Given the description of an element on the screen output the (x, y) to click on. 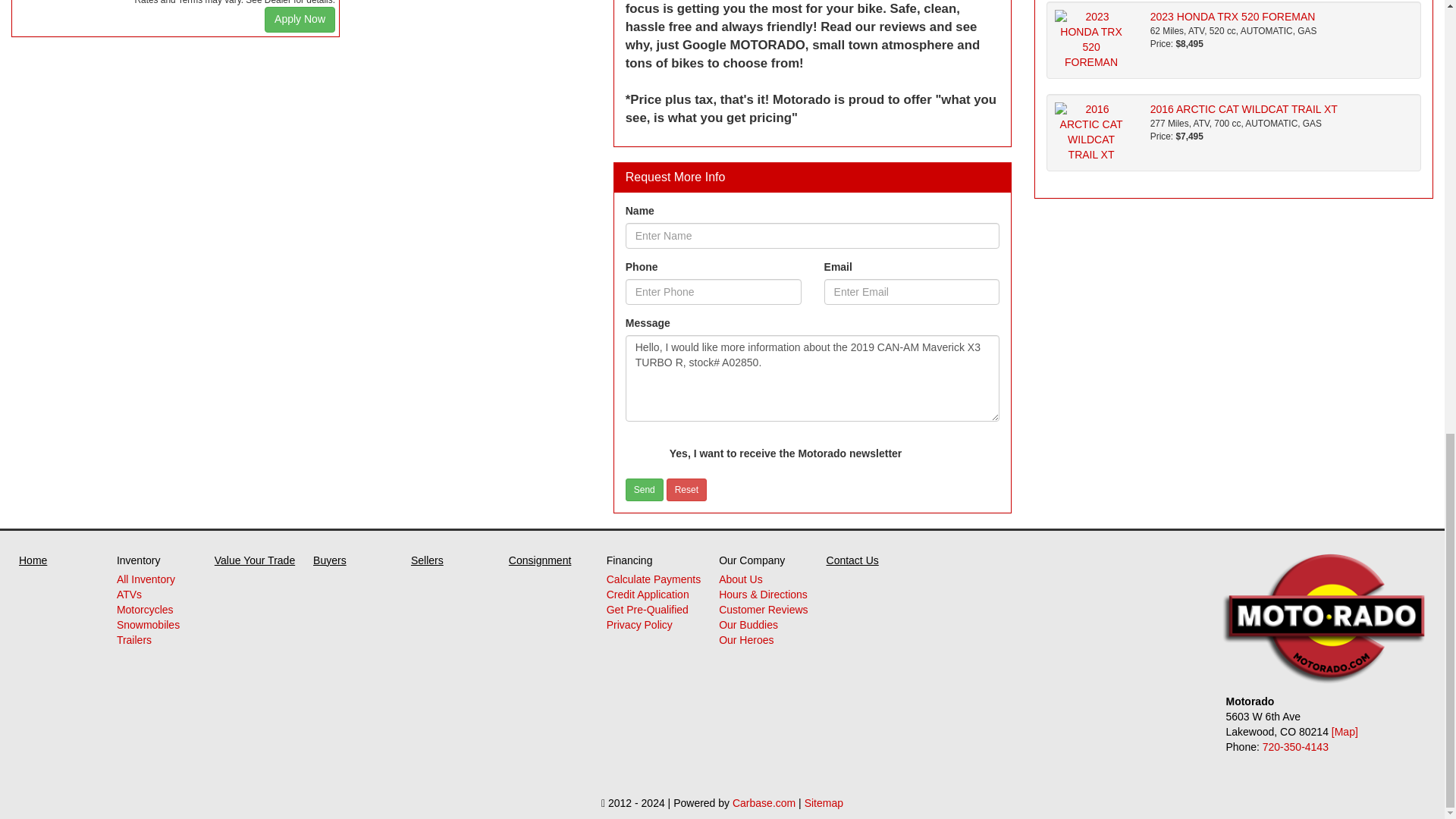
Reset (686, 489)
Directions to Motorado (1345, 731)
Send (644, 489)
Call Motorado (1294, 746)
